Given the description of an element on the screen output the (x, y) to click on. 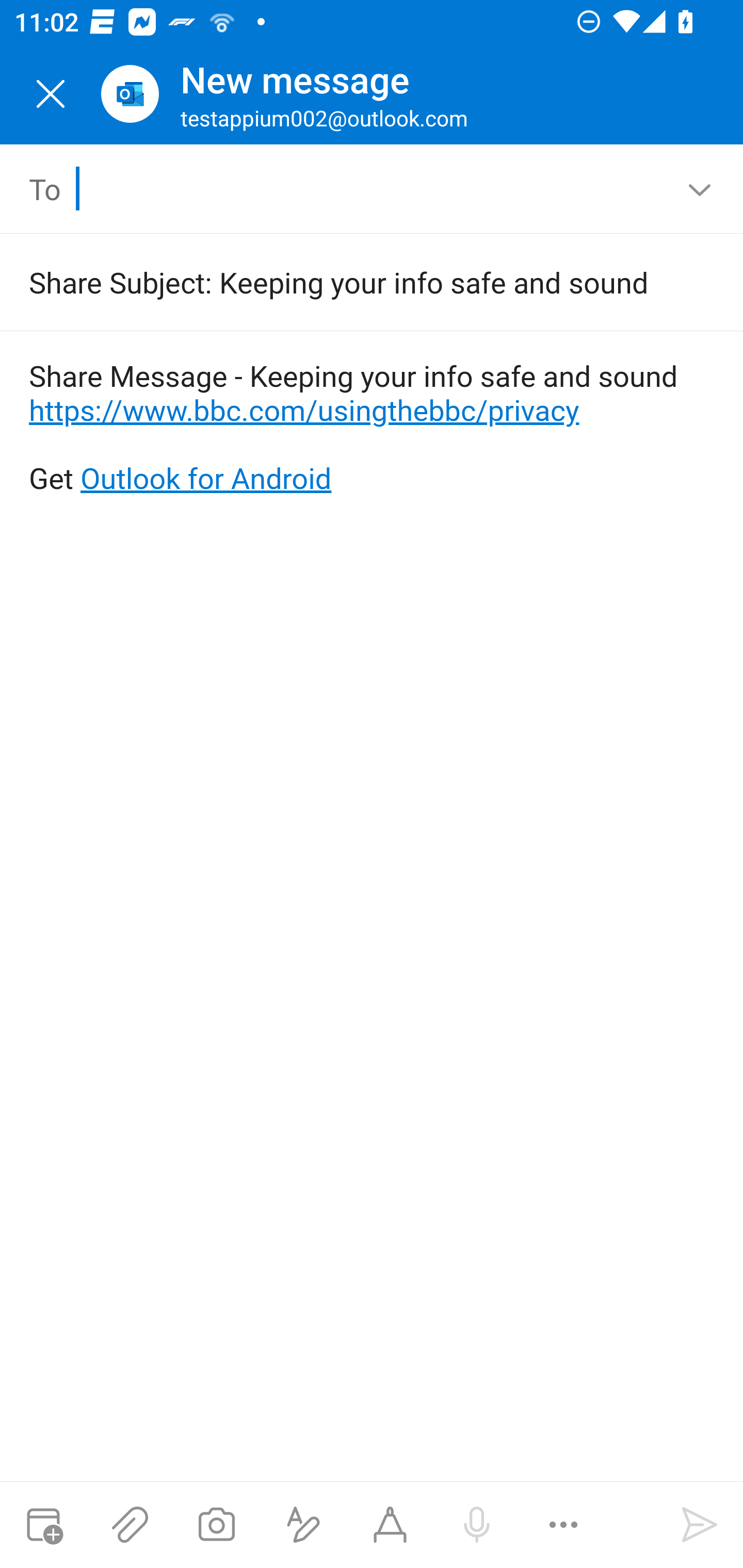
Close (50, 93)
Share Subject: Keeping your info safe and sound (342, 281)
Attach meeting (43, 1524)
Attach files (129, 1524)
Take a photo (216, 1524)
Show formatting options (303, 1524)
Start Ink compose (389, 1524)
More options (563, 1524)
Send (699, 1524)
